Given the description of an element on the screen output the (x, y) to click on. 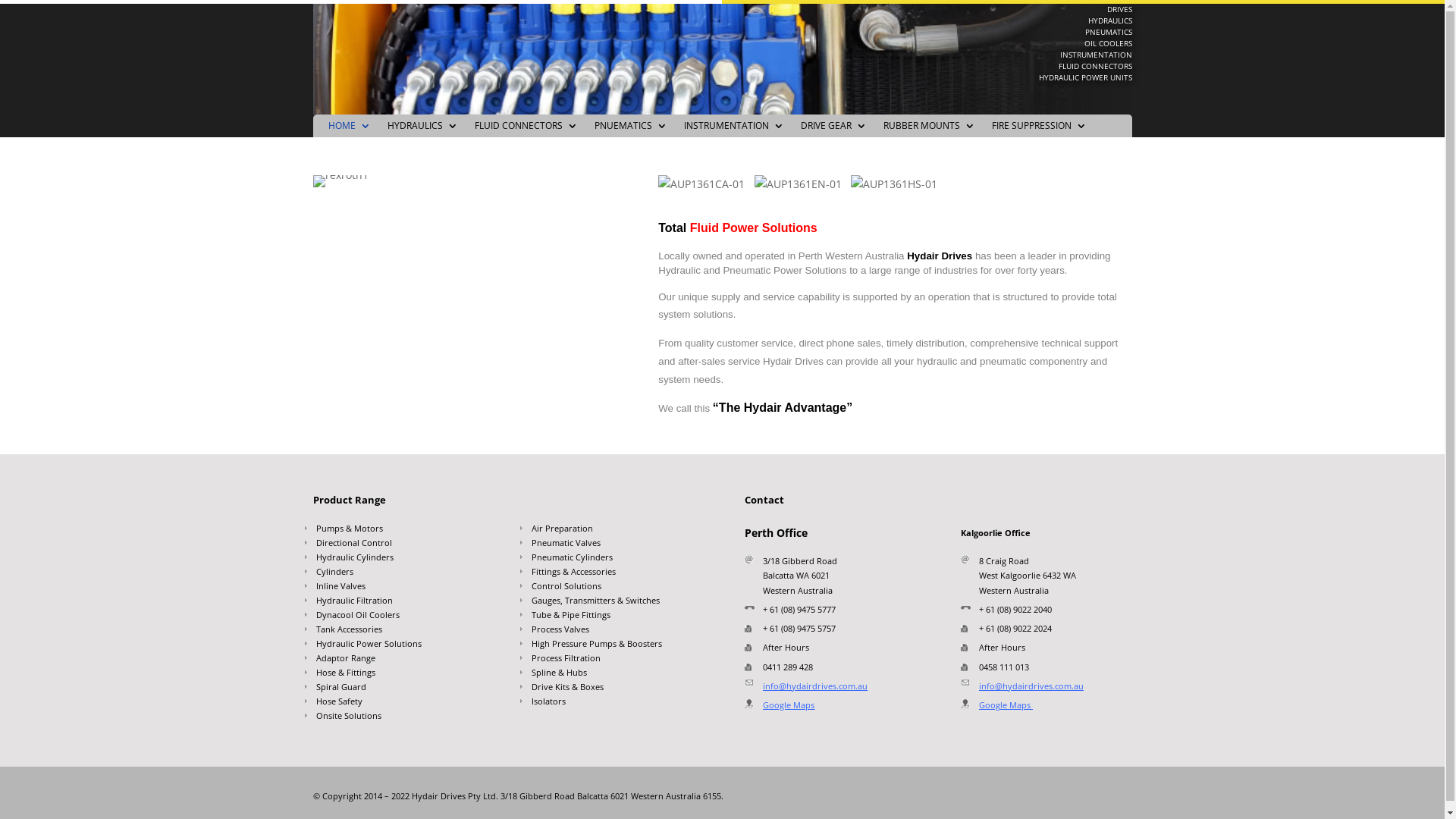
Adaptor Range Element type: text (399, 660)
Process Filtration Element type: text (615, 660)
Google Maps Element type: text (1004, 704)
DRIVE GEAR Element type: text (833, 128)
Onsite Solutions Element type: text (399, 718)
INSTRUMENTATION Element type: text (734, 128)
FIRE SUPPRESSION Element type: text (1038, 128)
Spiral Guard Element type: text (399, 689)
Drive Kits & Boxes Element type: text (615, 689)
Fittings & Accessories Element type: text (615, 574)
Directional Control Element type: text (399, 545)
Spline & Hubs Element type: text (615, 675)
Pneumatic Cylinders Element type: text (615, 559)
HYDRAULICS Element type: text (421, 128)
Pneumatic Valves Element type: text (615, 545)
info@hydairdrives.com.au Element type: text (1031, 685)
Hydraulic Filtration Element type: text (399, 603)
Dynacool Oil Coolers Element type: text (399, 617)
RUBBER MOUNTS Element type: text (928, 128)
Isolators Element type: text (615, 703)
Hose Safety Element type: text (399, 703)
High Pressure Pumps & Boosters Element type: text (615, 646)
Hydraulic Cylinders Element type: text (399, 559)
Tube & Pipe Fittings Element type: text (615, 617)
Air Preparation Element type: text (615, 531)
Tank Accessories Element type: text (399, 631)
Inline Valves Element type: text (399, 588)
HOME Element type: text (348, 128)
Gauges, Transmitters & Switches Element type: text (615, 603)
Process Valves Element type: text (615, 631)
Google Maps Element type: text (788, 704)
Control Solutions Element type: text (615, 588)
Hydraulic Power Solutions Element type: text (399, 646)
PNUEMATICS Element type: text (630, 128)
Cylinders Element type: text (399, 574)
FLUID CONNECTORS Element type: text (525, 128)
Hose & Fittings Element type: text (399, 675)
info@hydairdrives.com.au Element type: text (814, 685)
Pumps & Motors Element type: text (399, 531)
rexroth1 Element type: hover (339, 181)
